Given the description of an element on the screen output the (x, y) to click on. 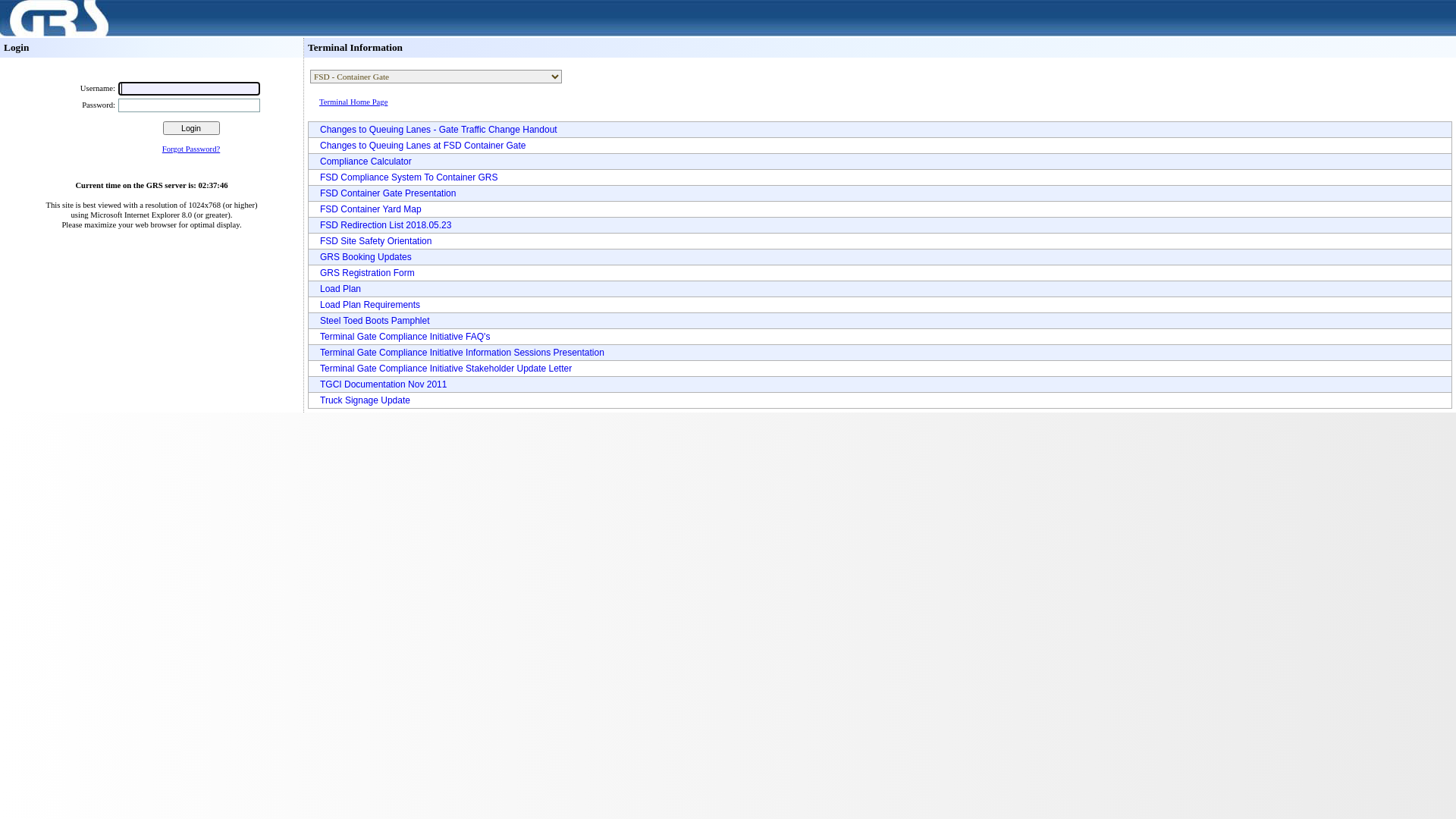
GRS Booking Updates Element type: text (361, 256)
FSD Compliance System To Container GRS Element type: text (405, 177)
FSD Container Gate Presentation Element type: text (383, 193)
Changes to Queuing Lanes at FSD Container Gate Element type: text (419, 145)
Login Element type: text (190, 127)
TGCI Documentation Nov 2011 Element type: text (379, 384)
Changes to Queuing Lanes - Gate Traffic Change Handout Element type: text (434, 129)
Load Plan Requirements Element type: text (366, 304)
FSD Site Safety Orientation Element type: text (371, 240)
Forgot Password? Element type: text (190, 148)
Terminal Gate Compliance Initiative FAQ's Element type: text (400, 336)
Steel Toed Boots Pamphlet Element type: text (370, 320)
Terminal Home Page Element type: text (428, 102)
Compliance Calculator Element type: text (361, 161)
FSD Redirection List 2018.05.23 Element type: text (381, 224)
Load Plan Element type: text (336, 288)
Truck Signage Update Element type: text (361, 400)
FSD Container Yard Map Element type: text (366, 208)
GRS Registration Form Element type: text (363, 272)
